Given the description of an element on the screen output the (x, y) to click on. 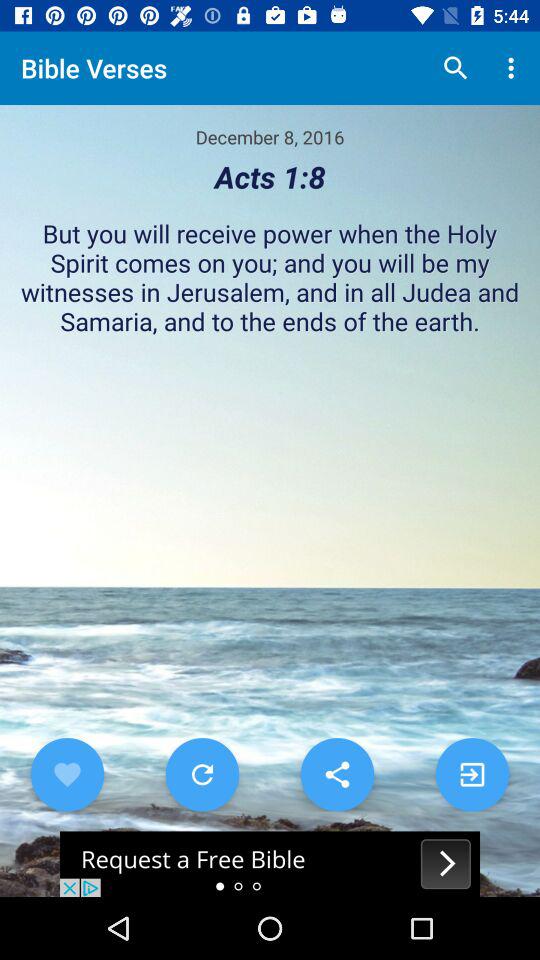
share the article (270, 864)
